Given the description of an element on the screen output the (x, y) to click on. 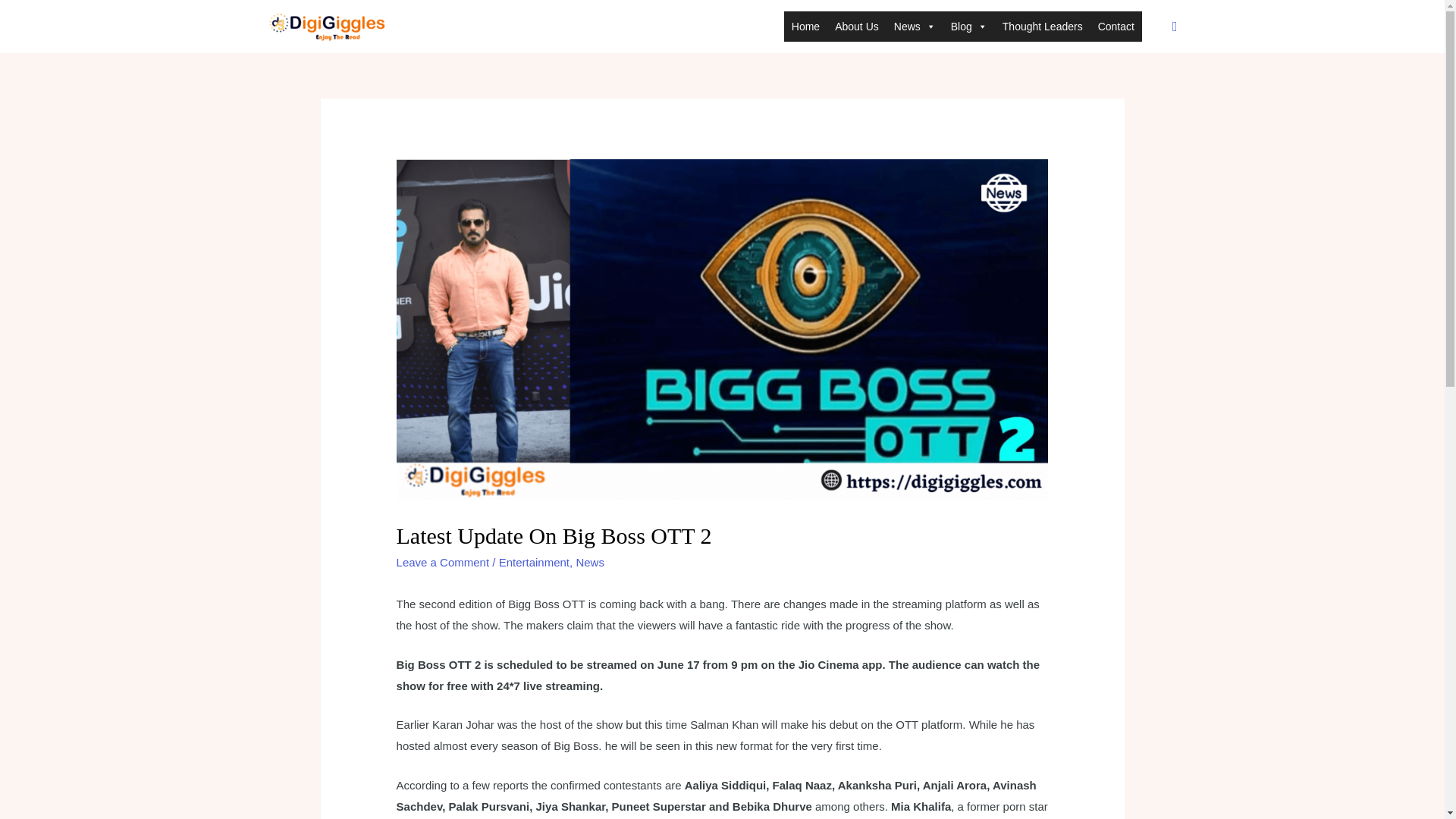
About Us (856, 26)
Blog (968, 26)
News (589, 562)
Leave a Comment (442, 562)
Thought Leaders (1042, 26)
Entertainment (534, 562)
News (914, 26)
Contact (1115, 26)
Home (805, 26)
